Given the description of an element on the screen output the (x, y) to click on. 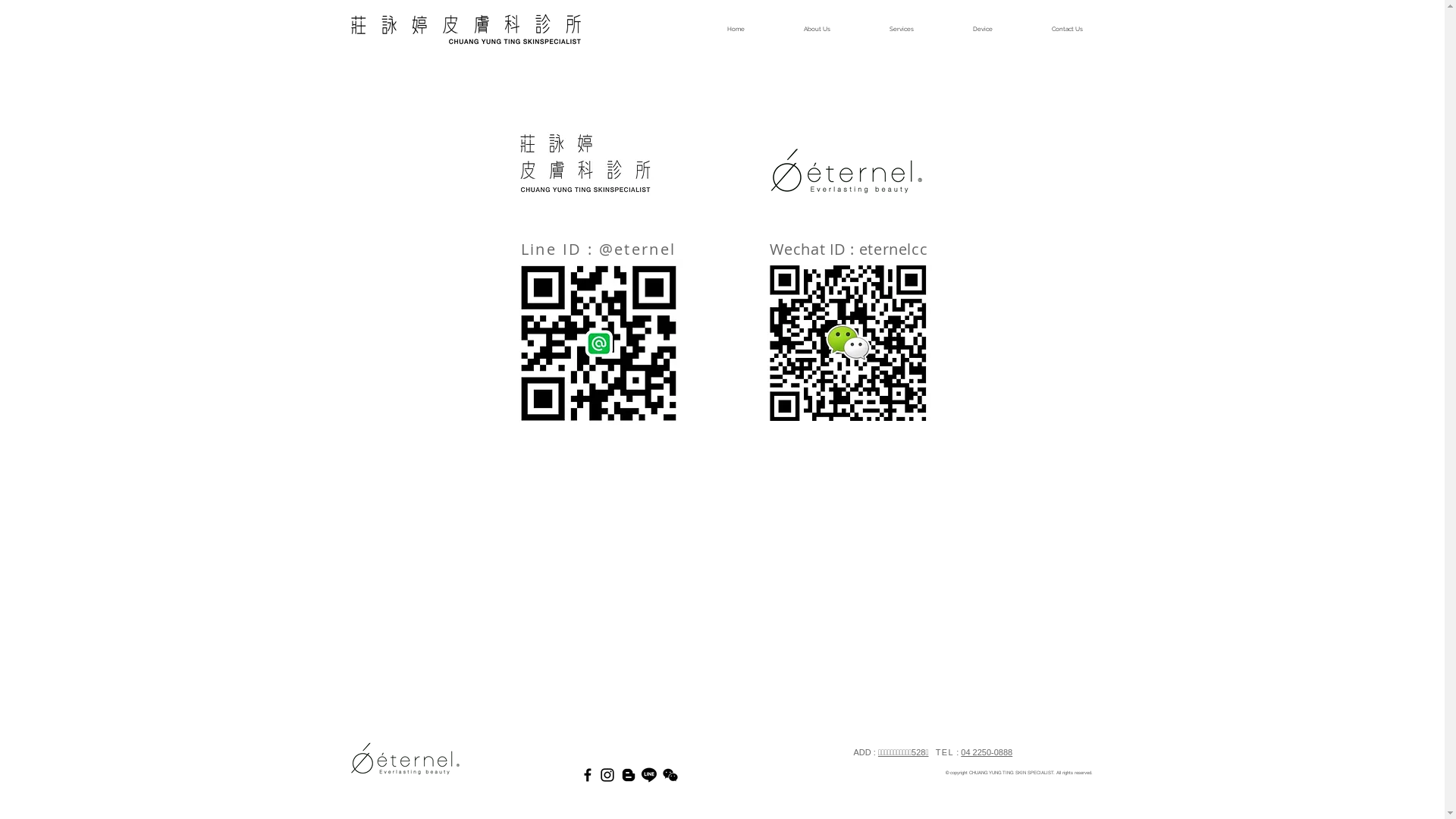
04 2250-0888 Element type: text (986, 751)
Home Element type: text (716, 28)
Contact Us Element type: text (1049, 28)
About Us Element type: text (797, 28)
    Element type: text (931, 751)
Device Element type: text (964, 28)
Services Element type: text (883, 28)
